Given the description of an element on the screen output the (x, y) to click on. 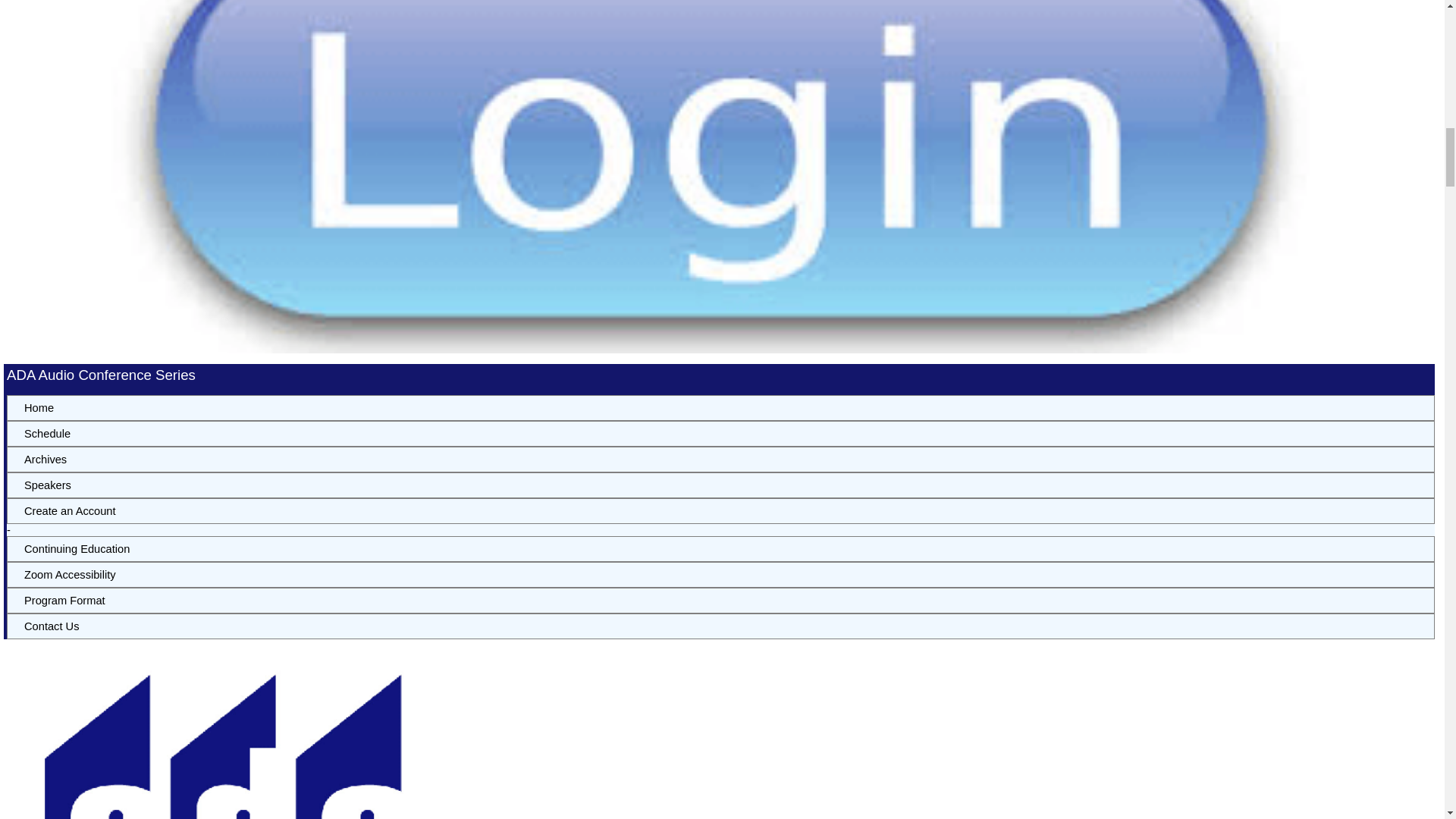
Speakers (720, 485)
Home (720, 407)
Create an Account (720, 510)
Schedule (720, 433)
Contact Us (720, 626)
Program Format (720, 600)
Archives (720, 459)
Zoom Accessibility (720, 574)
Continuing Education (720, 549)
